Given the description of an element on the screen output the (x, y) to click on. 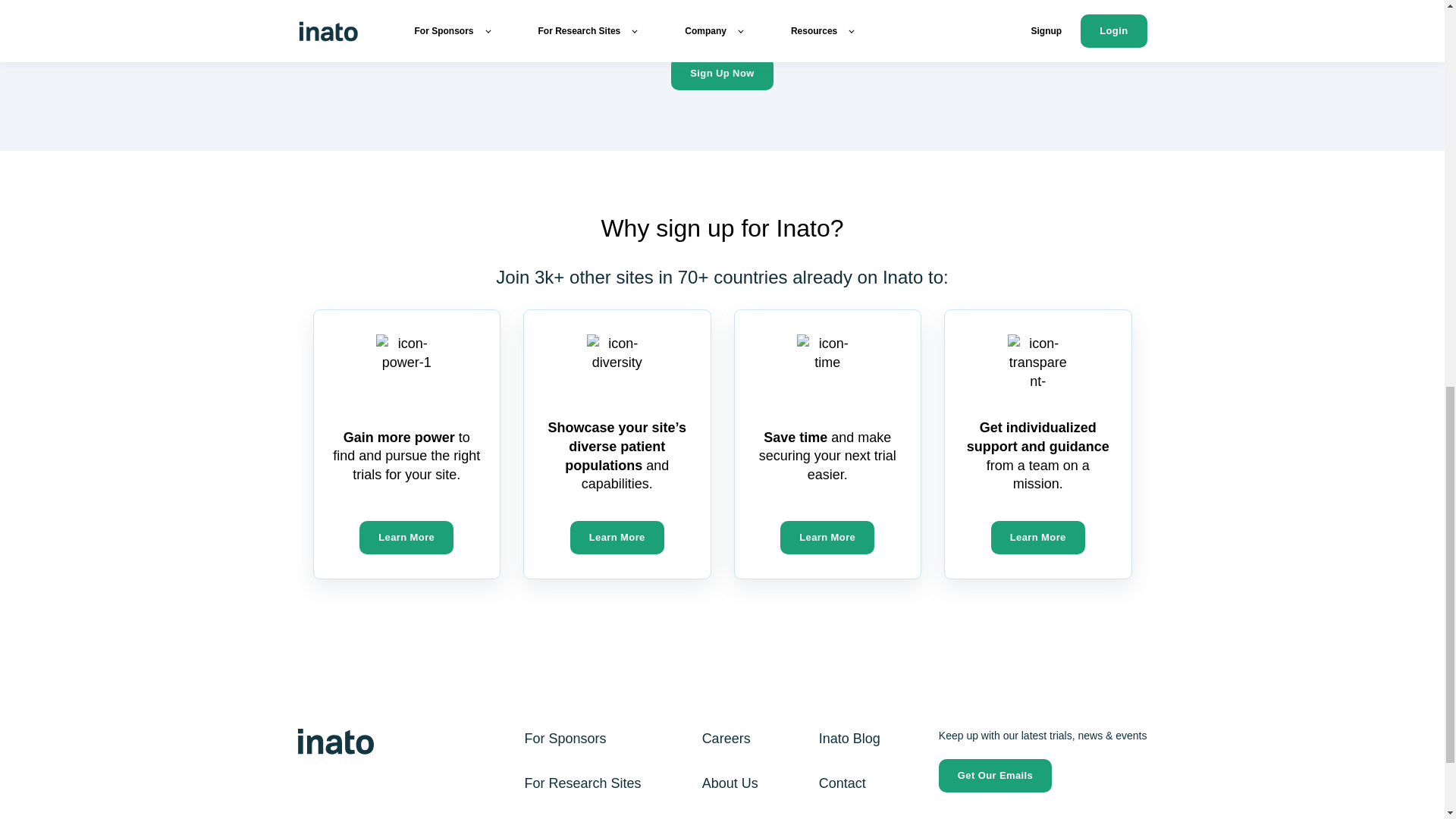
About Us (729, 783)
Sign Up Now (722, 73)
Learn More (1037, 537)
For Sponsors (565, 738)
Inato (334, 741)
Learn More (827, 537)
Learn More (405, 537)
For Research Sites (583, 783)
Learn More (616, 537)
Careers (726, 738)
Inato Blog (849, 738)
